Given the description of an element on the screen output the (x, y) to click on. 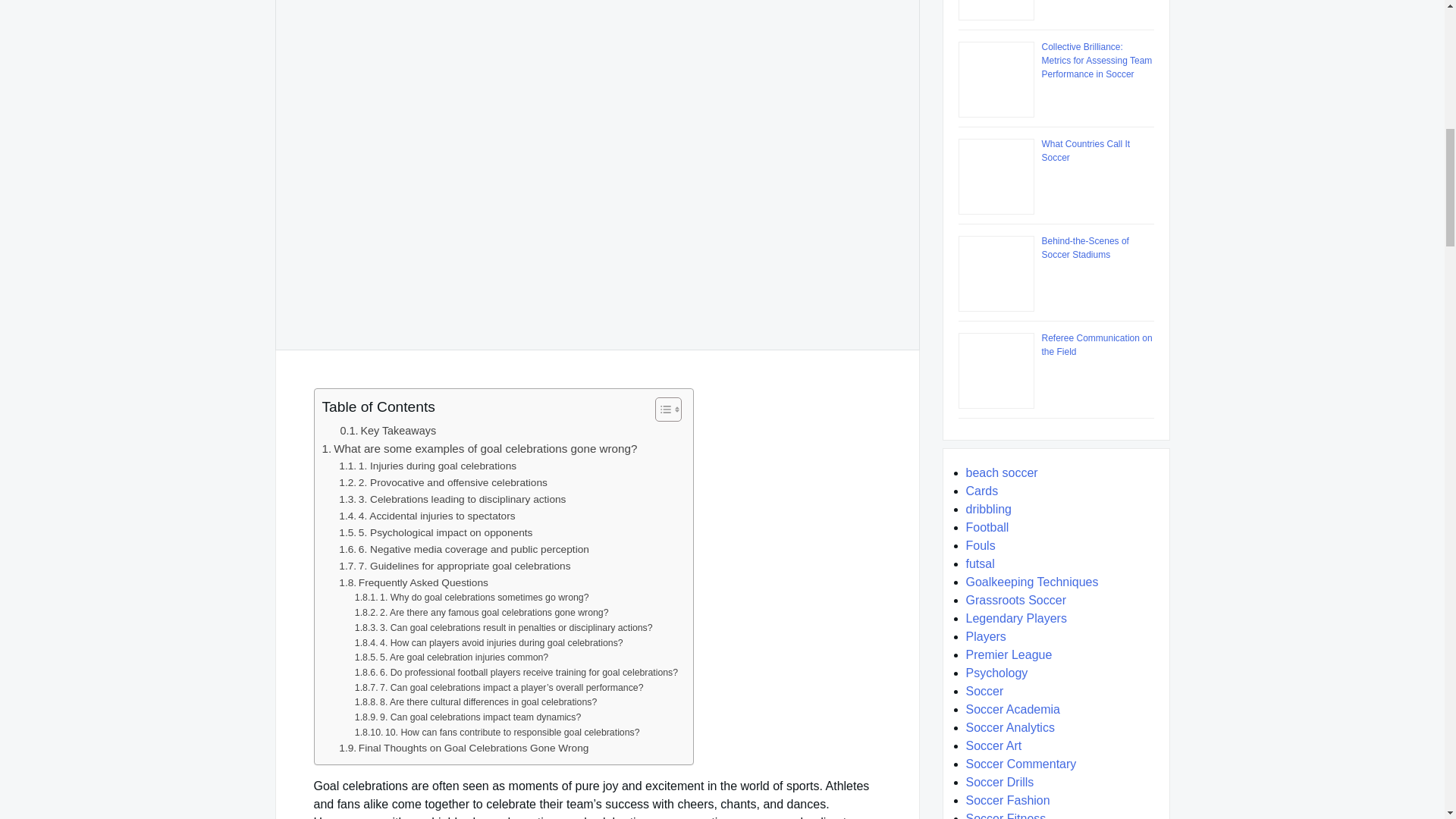
3. Celebrations leading to disciplinary actions (452, 499)
2. Provocative and offensive celebrations (443, 483)
8. Are there cultural differences in goal celebrations? (475, 702)
2. Are there any famous goal celebrations gone wrong? (481, 613)
1. Injuries during goal celebrations (427, 466)
4. How can players avoid injuries during goal celebrations? (489, 643)
1. Injuries during goal celebrations (427, 466)
9. Can goal celebrations impact team dynamics? (467, 717)
7. Guidelines for appropriate goal celebrations (454, 565)
3. Celebrations leading to disciplinary actions (452, 499)
2. Are there any famous goal celebrations gone wrong? (481, 613)
4. Accidental injuries to spectators (427, 515)
Final Thoughts on Goal Celebrations Gone Wrong (463, 748)
